Given the description of an element on the screen output the (x, y) to click on. 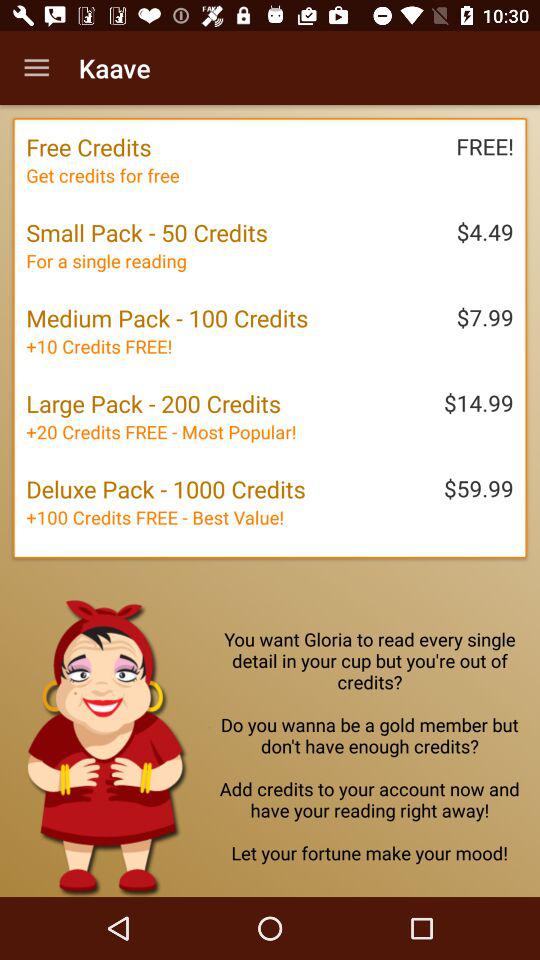
launch the item above free credits icon (36, 68)
